Given the description of an element on the screen output the (x, y) to click on. 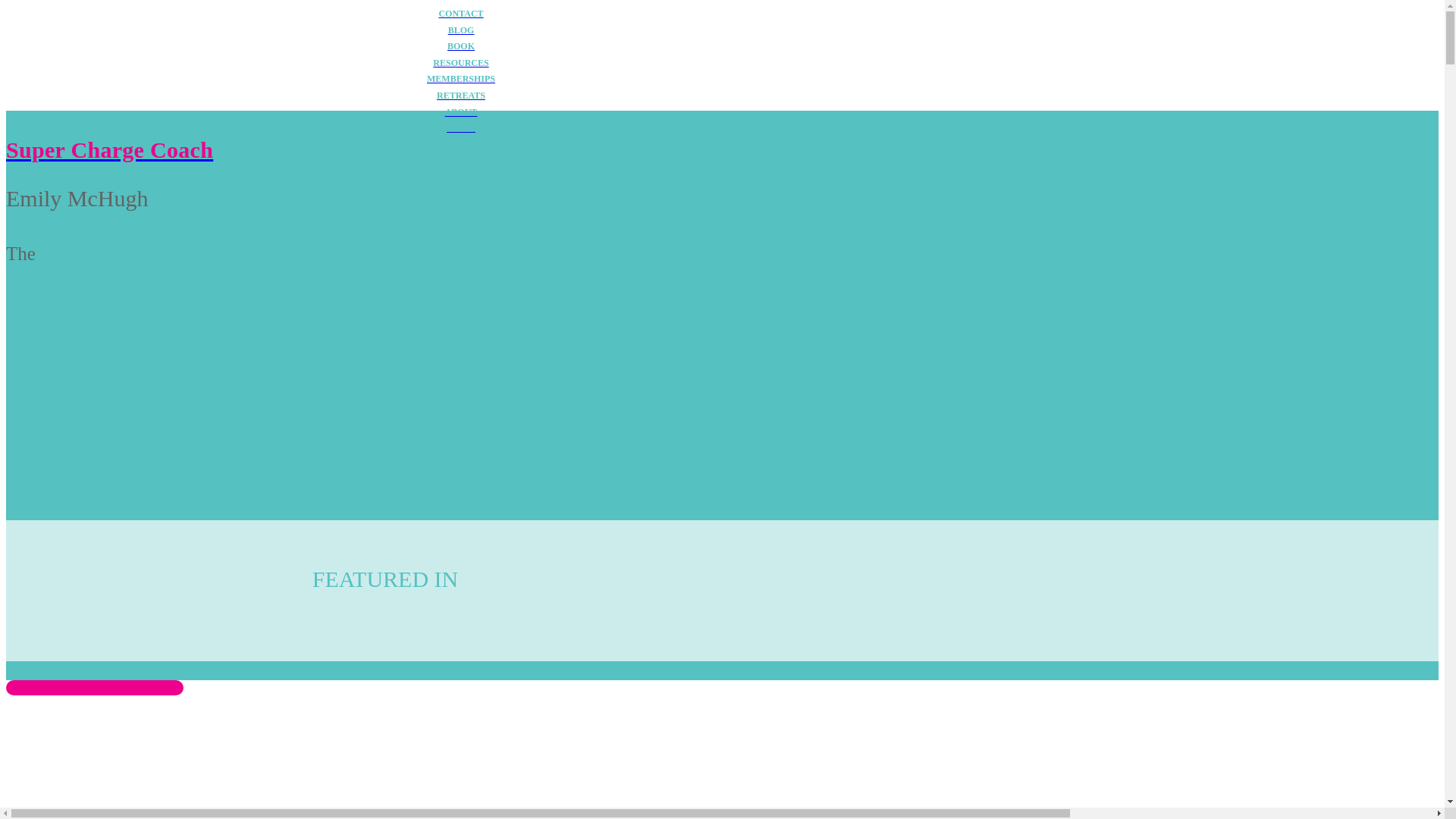
ABOUT (460, 112)
HOME (460, 128)
RESOURCES (460, 63)
BLOG (460, 30)
CONTACT (460, 13)
BOOK (460, 46)
RETREATS (460, 95)
Super Charge Coach (460, 149)
MEMBERSHIPS (460, 79)
